Given the description of an element on the screen output the (x, y) to click on. 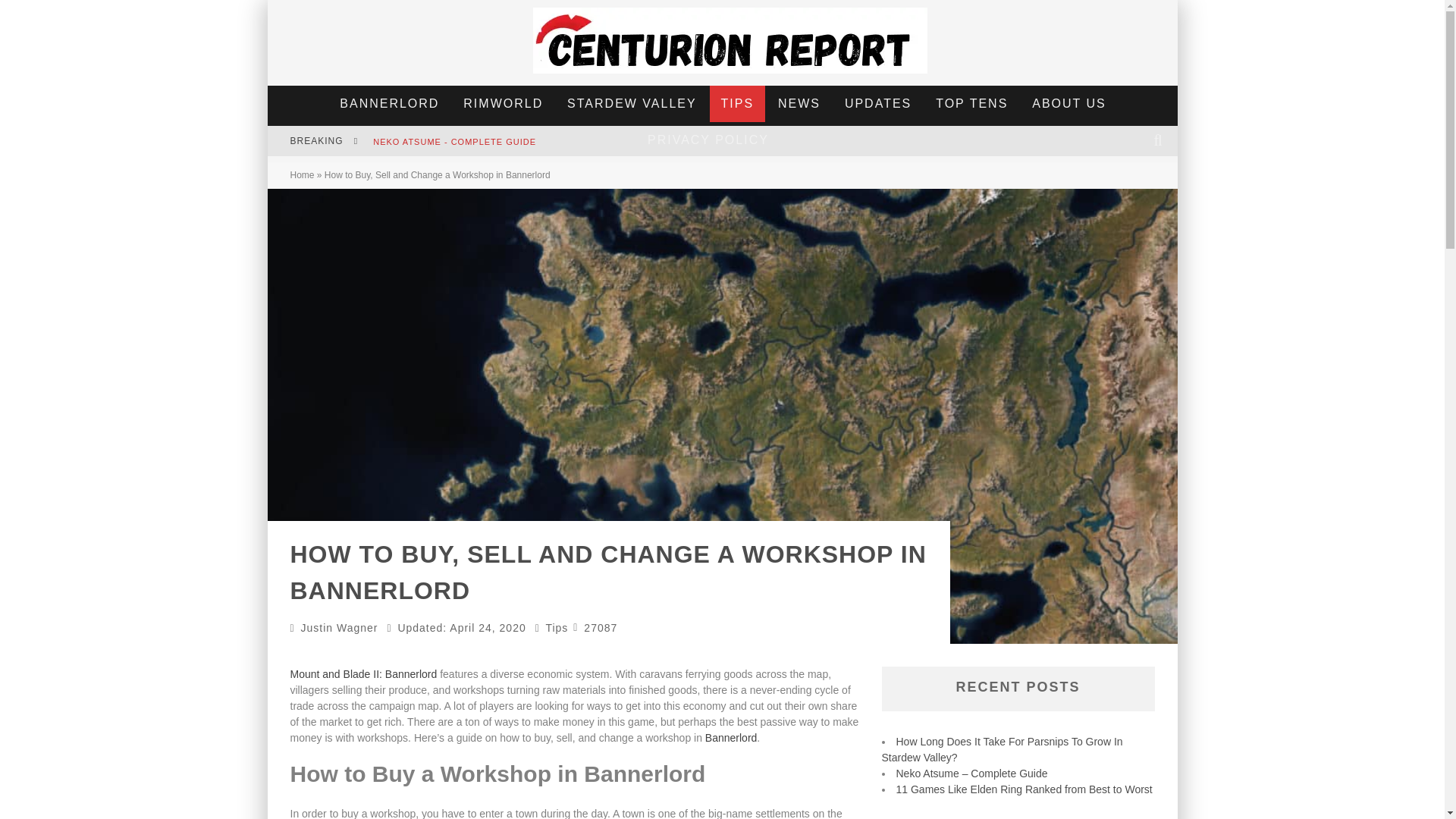
NEWS (799, 103)
STARDEW VALLEY (631, 103)
TIPS (737, 103)
BANNERLORD (389, 103)
RIMWORLD (502, 103)
Neko Atsume - Complete Guide (453, 141)
View all posts in Tips (555, 627)
UPDATES (877, 103)
